Given the description of an element on the screen output the (x, y) to click on. 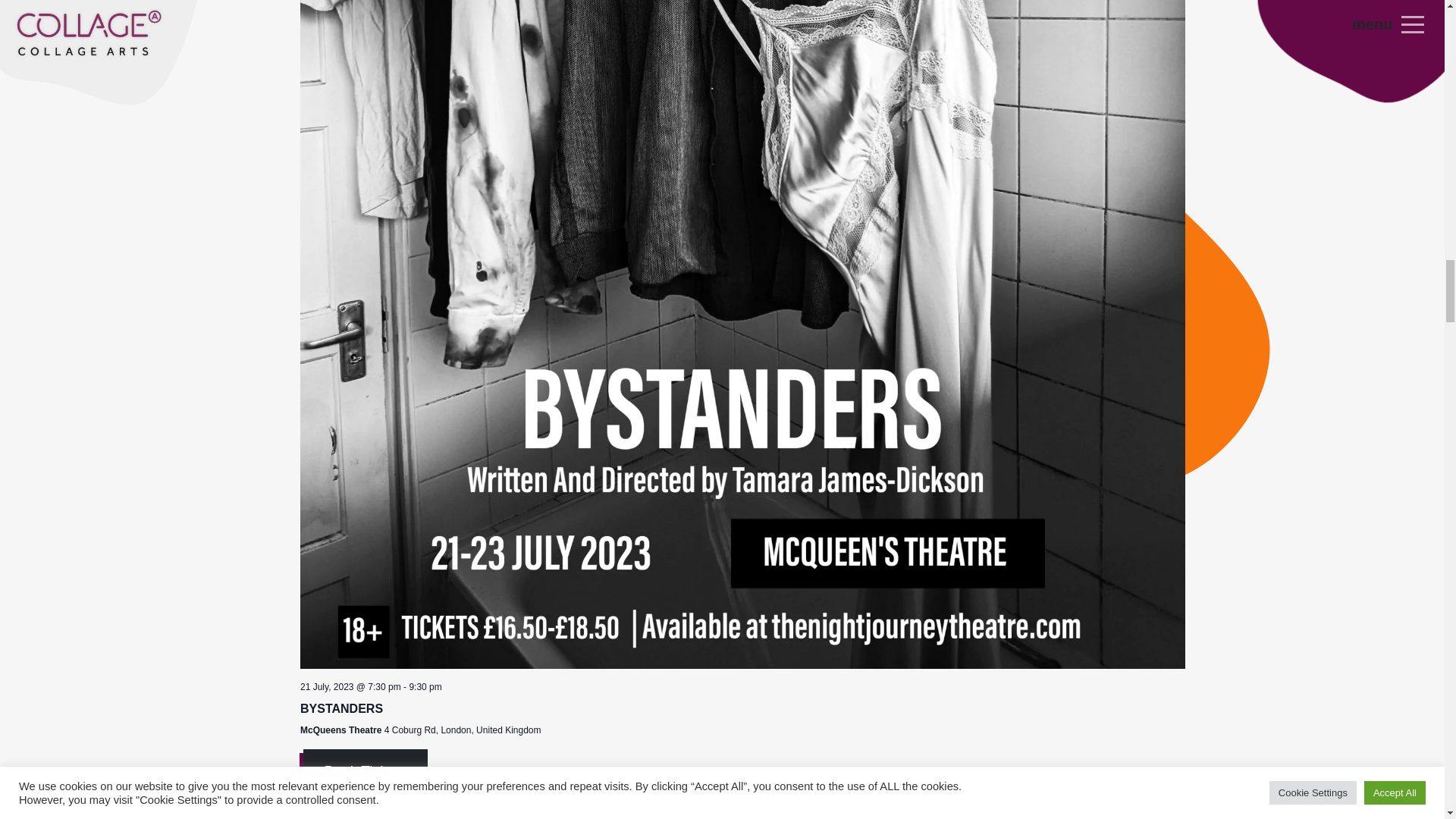
BYSTANDERS (340, 708)
